Given the description of an element on the screen output the (x, y) to click on. 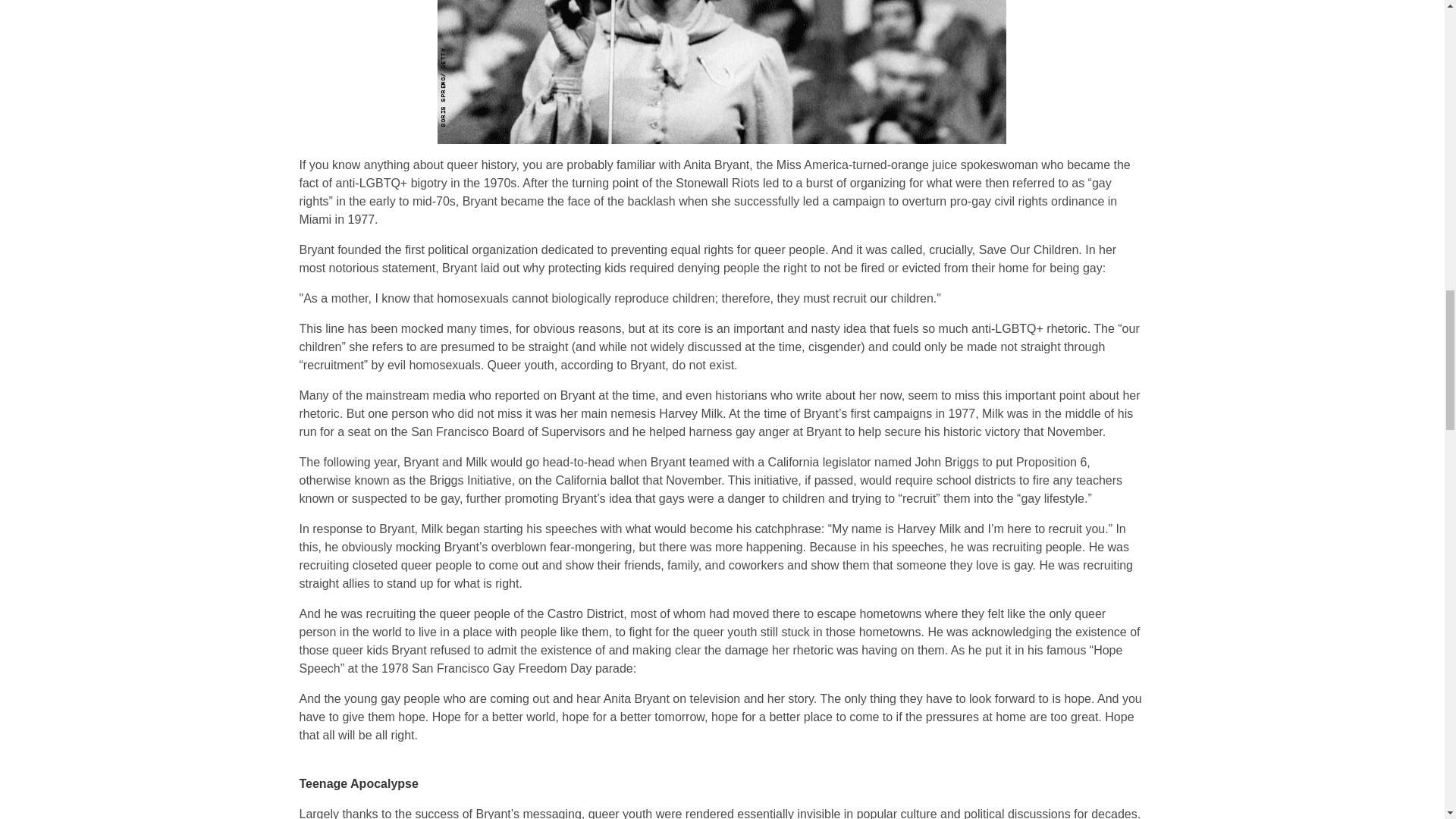
anita (722, 72)
